Given the description of an element on the screen output the (x, y) to click on. 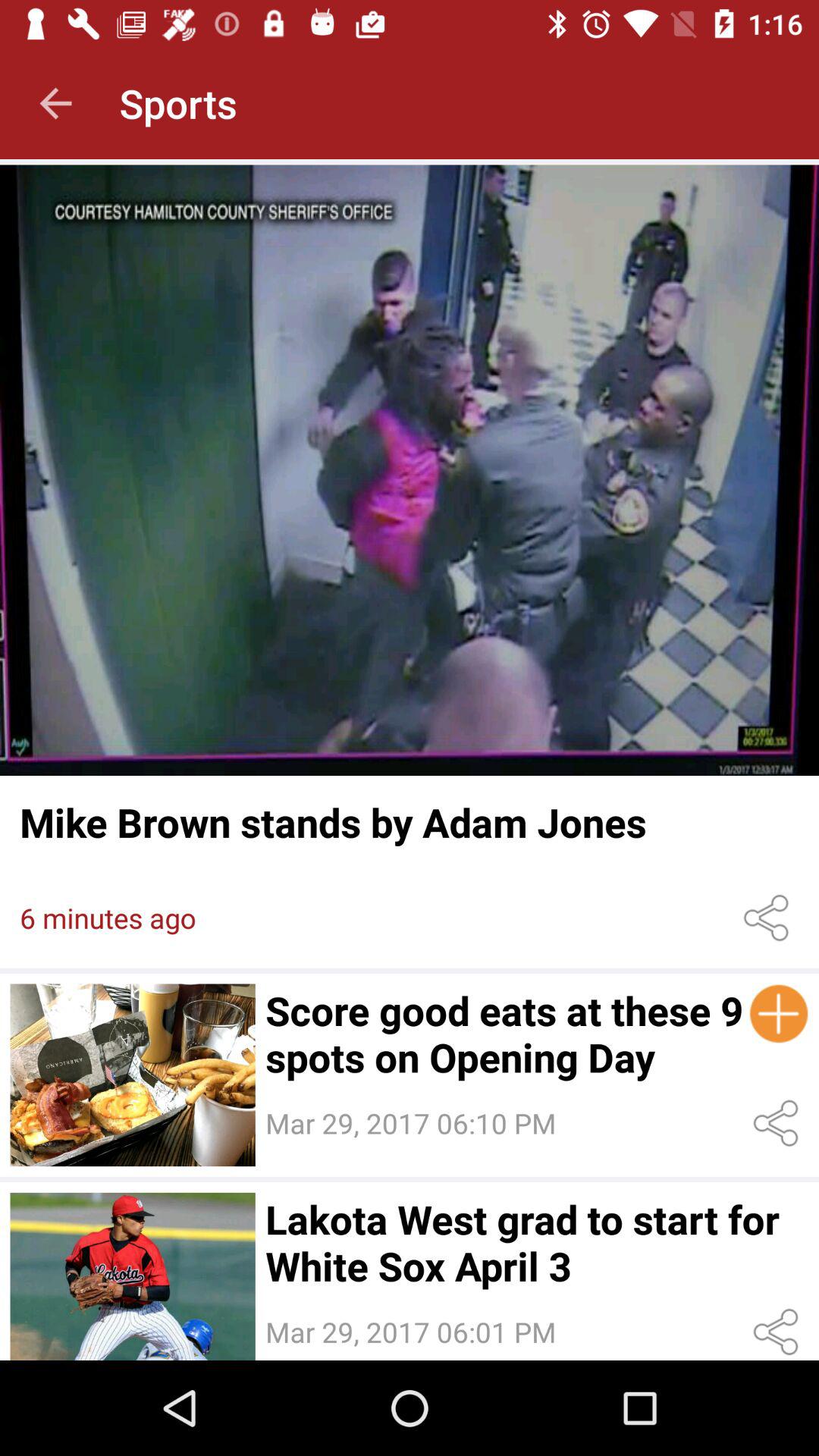
open article (409, 469)
